Given the description of an element on the screen output the (x, y) to click on. 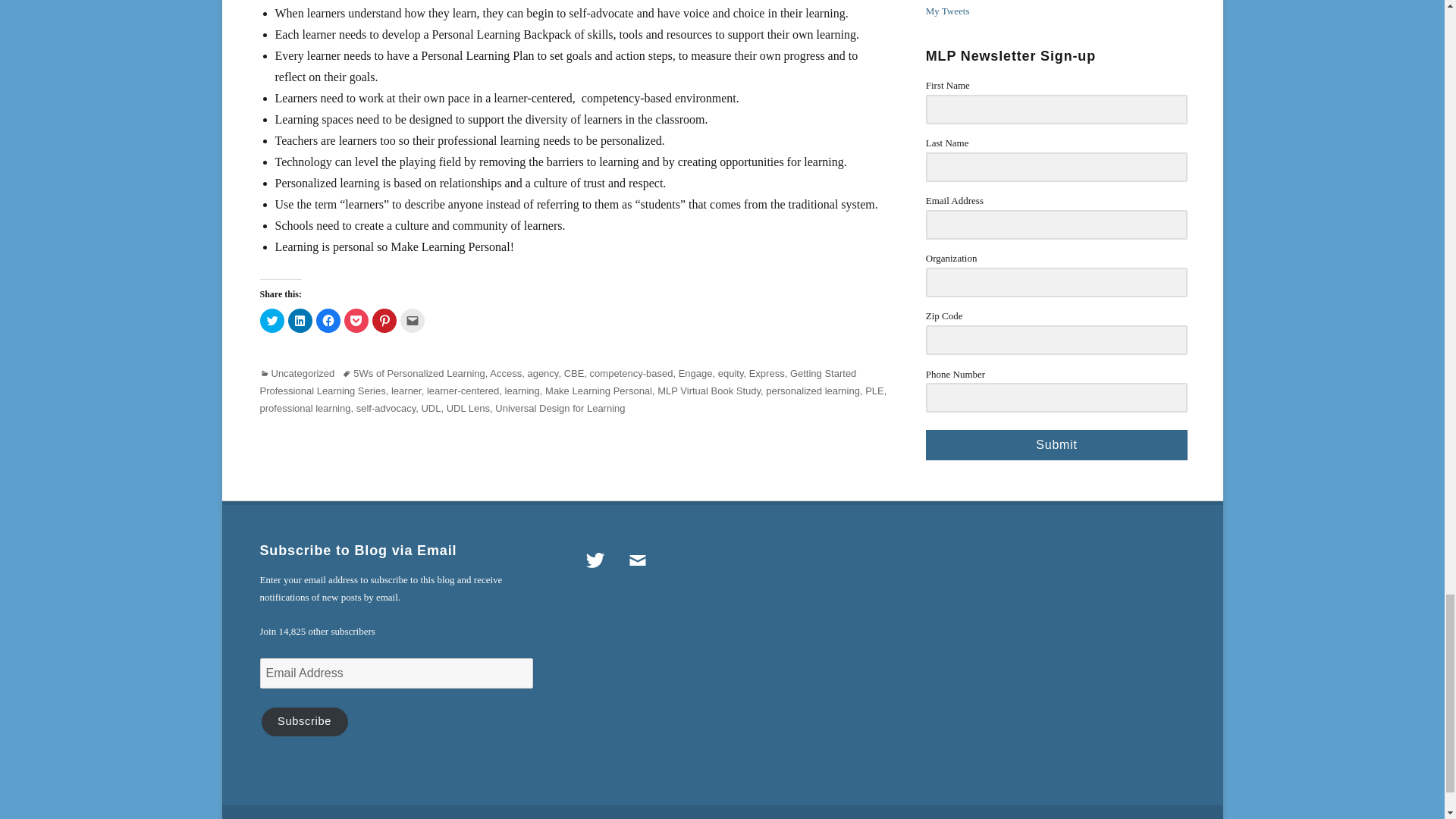
Click to share on LinkedIn (300, 320)
Click to share on Pinterest (383, 320)
Twitter (595, 560)
Click to share on Facebook (327, 320)
5 digit zip code, numbers only (1057, 339)
Click to email this to a friend (412, 320)
International Phone Number (1057, 397)
Email (637, 560)
Click to share on Pocket (355, 320)
Click to share on Twitter (271, 320)
